Given the description of an element on the screen output the (x, y) to click on. 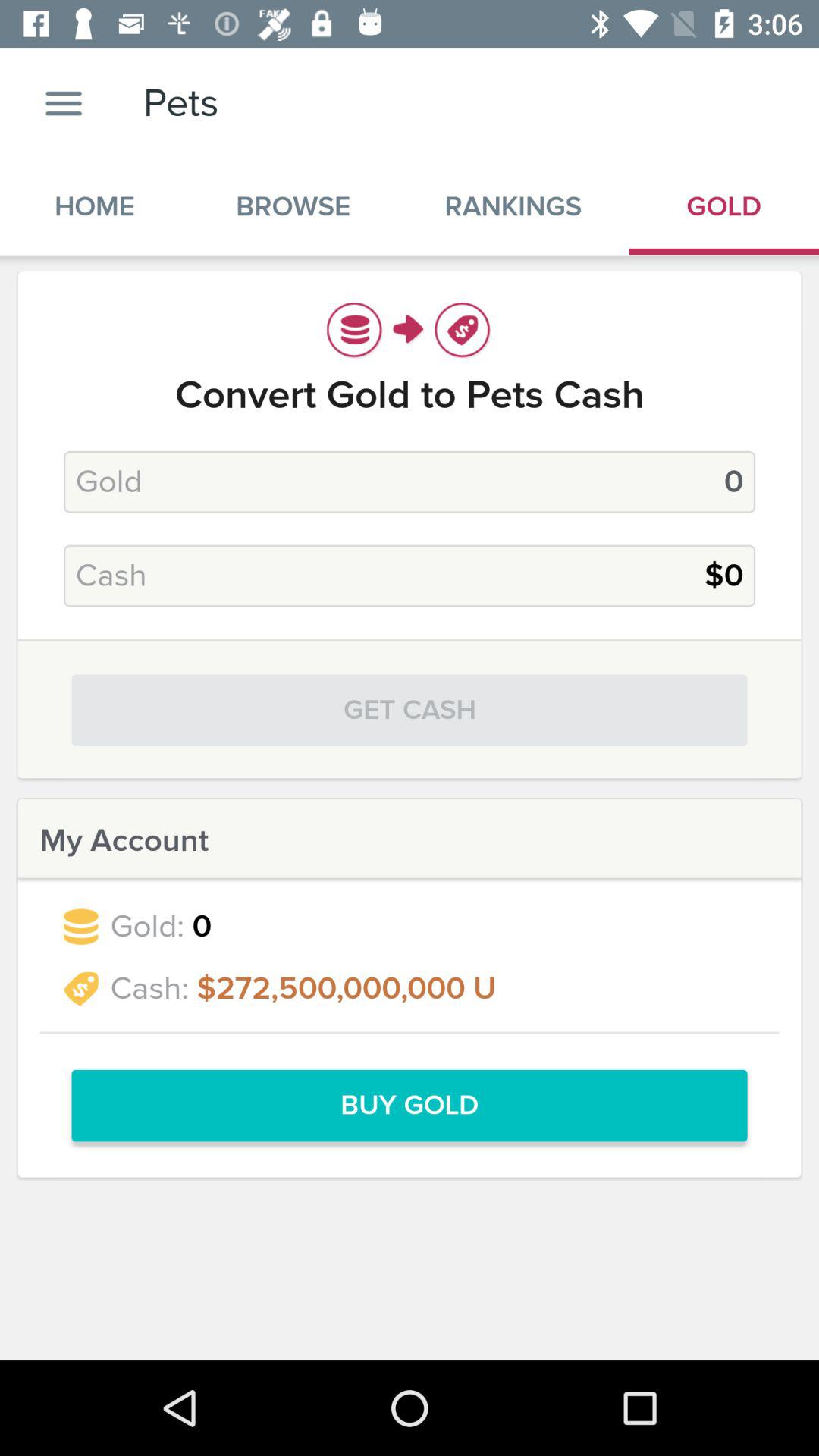
launch item next to pets item (63, 103)
